Given the description of an element on the screen output the (x, y) to click on. 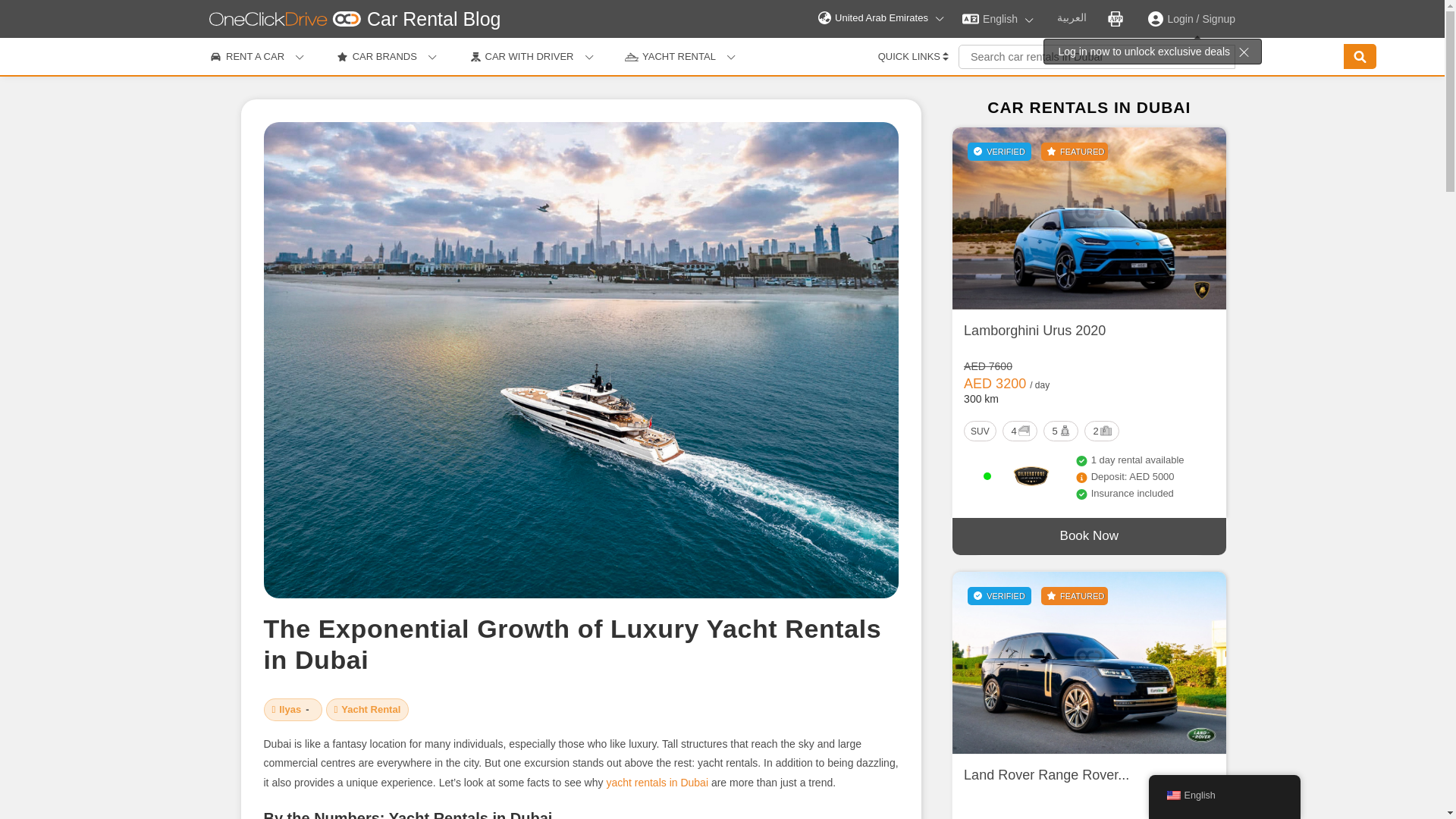
English (997, 18)
Standard mileage included in daily rental costs (1039, 385)
Lamborghini Urus 2020 for rent in Dubai (1088, 218)
OneClickDrive (290, 708)
APP (1115, 18)
APP (1116, 18)
Lamborghini Car Rental in Dubai (1201, 290)
Car Rental Blog (433, 19)
